Given the description of an element on the screen output the (x, y) to click on. 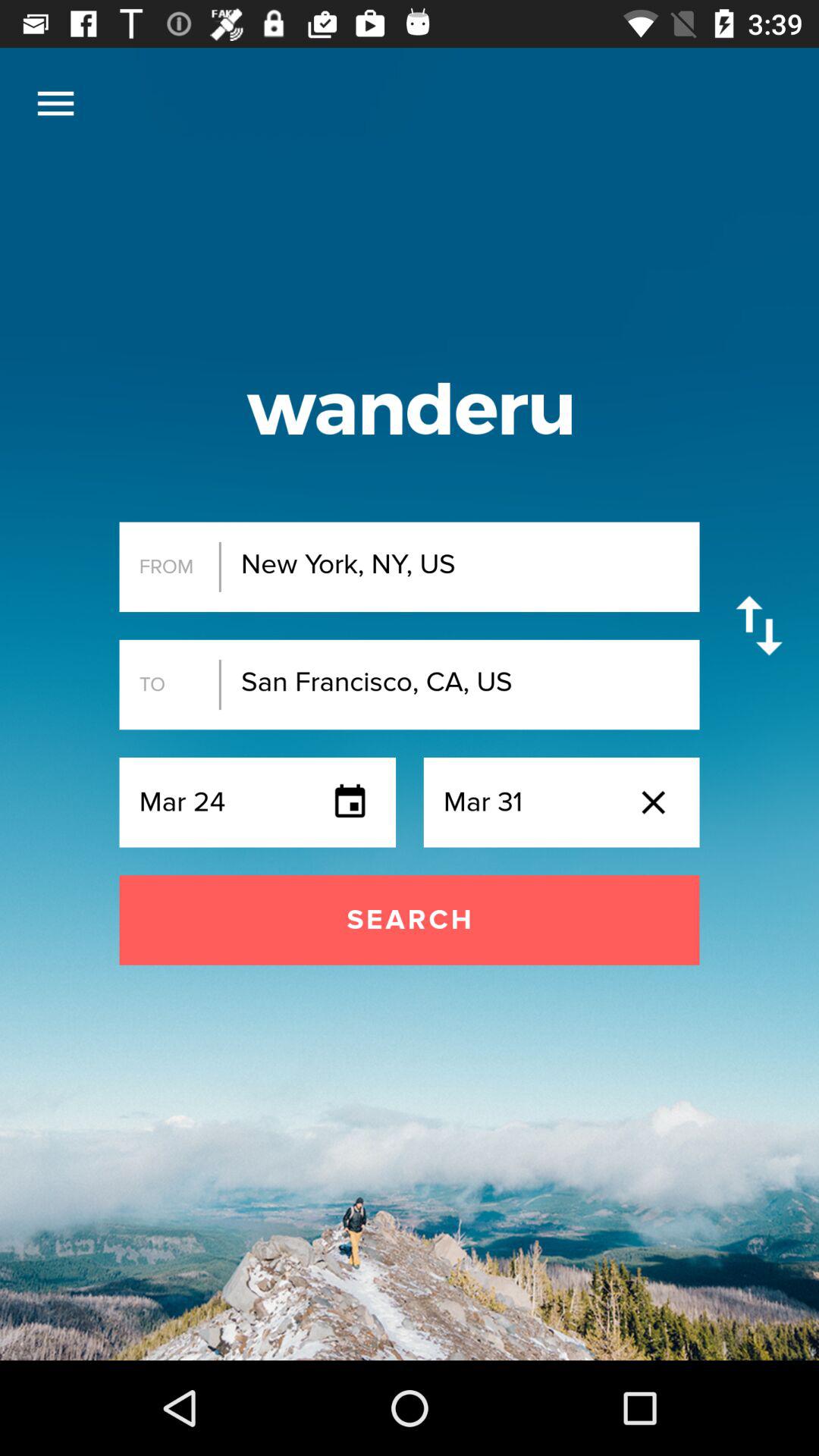
click the item above the search item (55, 103)
